Given the description of an element on the screen output the (x, y) to click on. 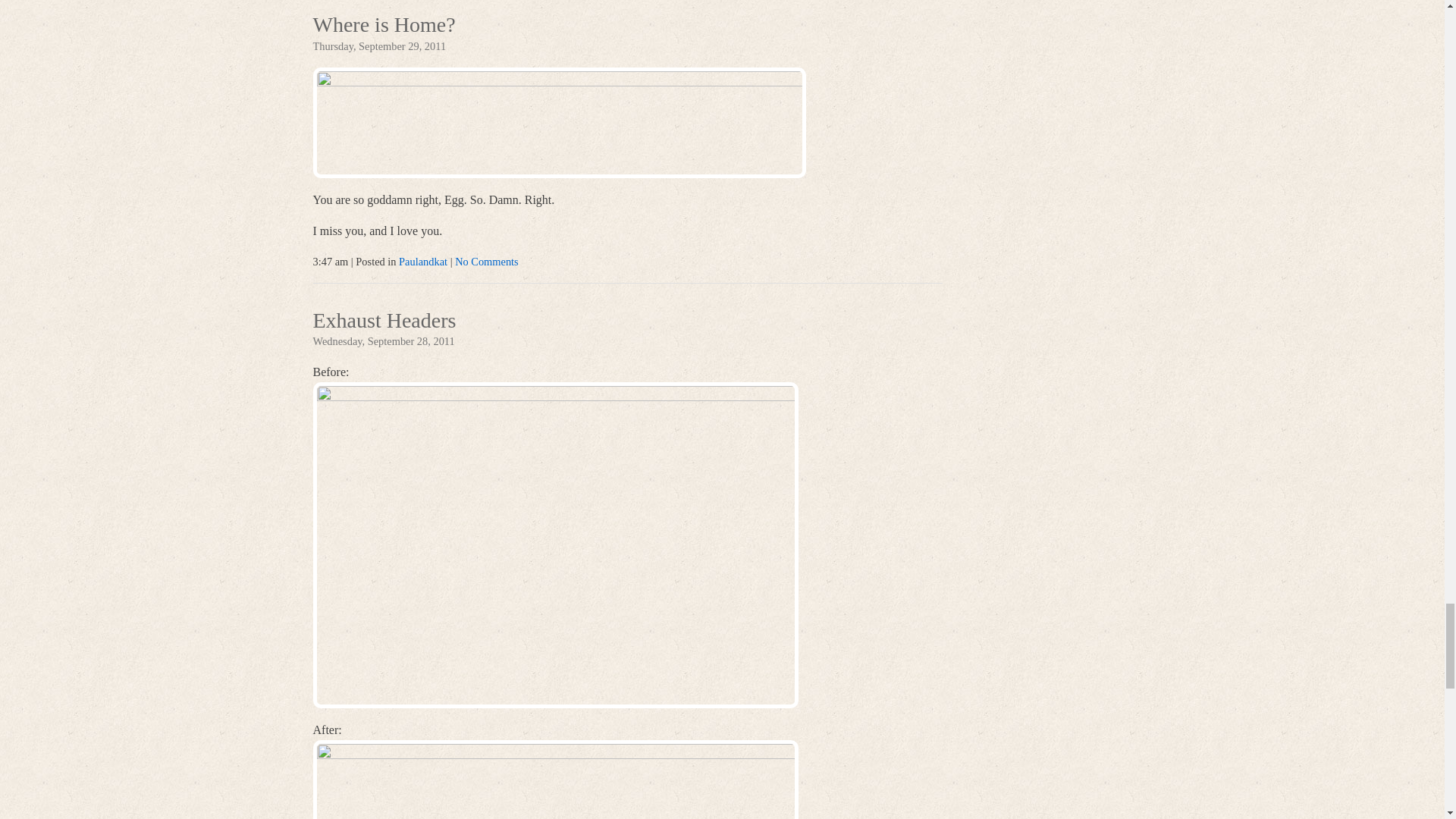
where-is-home (559, 122)
Doug Thorley Headers (555, 779)
